Given the description of an element on the screen output the (x, y) to click on. 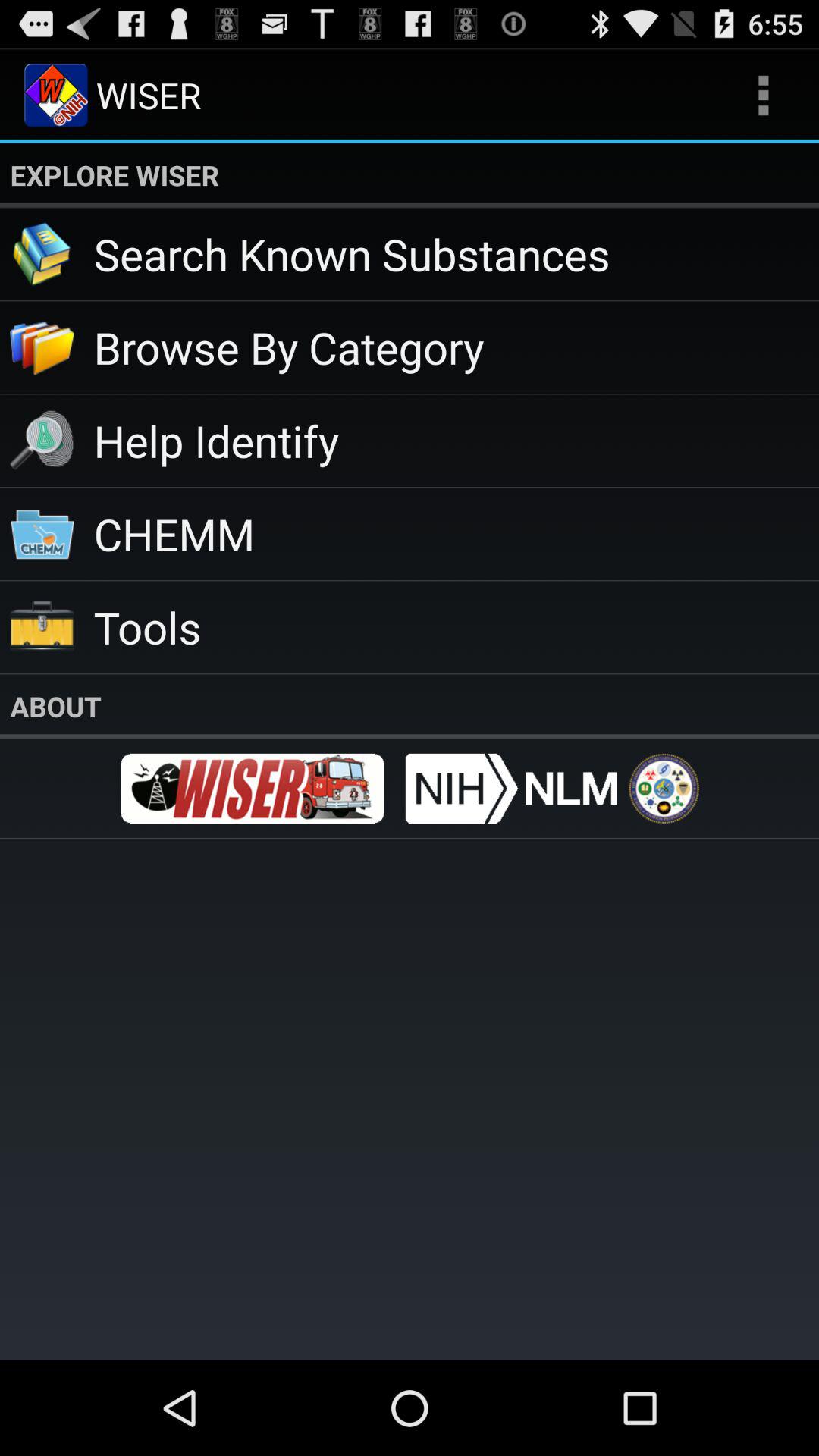
turn on the icon below the search known substances icon (456, 346)
